Given the description of an element on the screen output the (x, y) to click on. 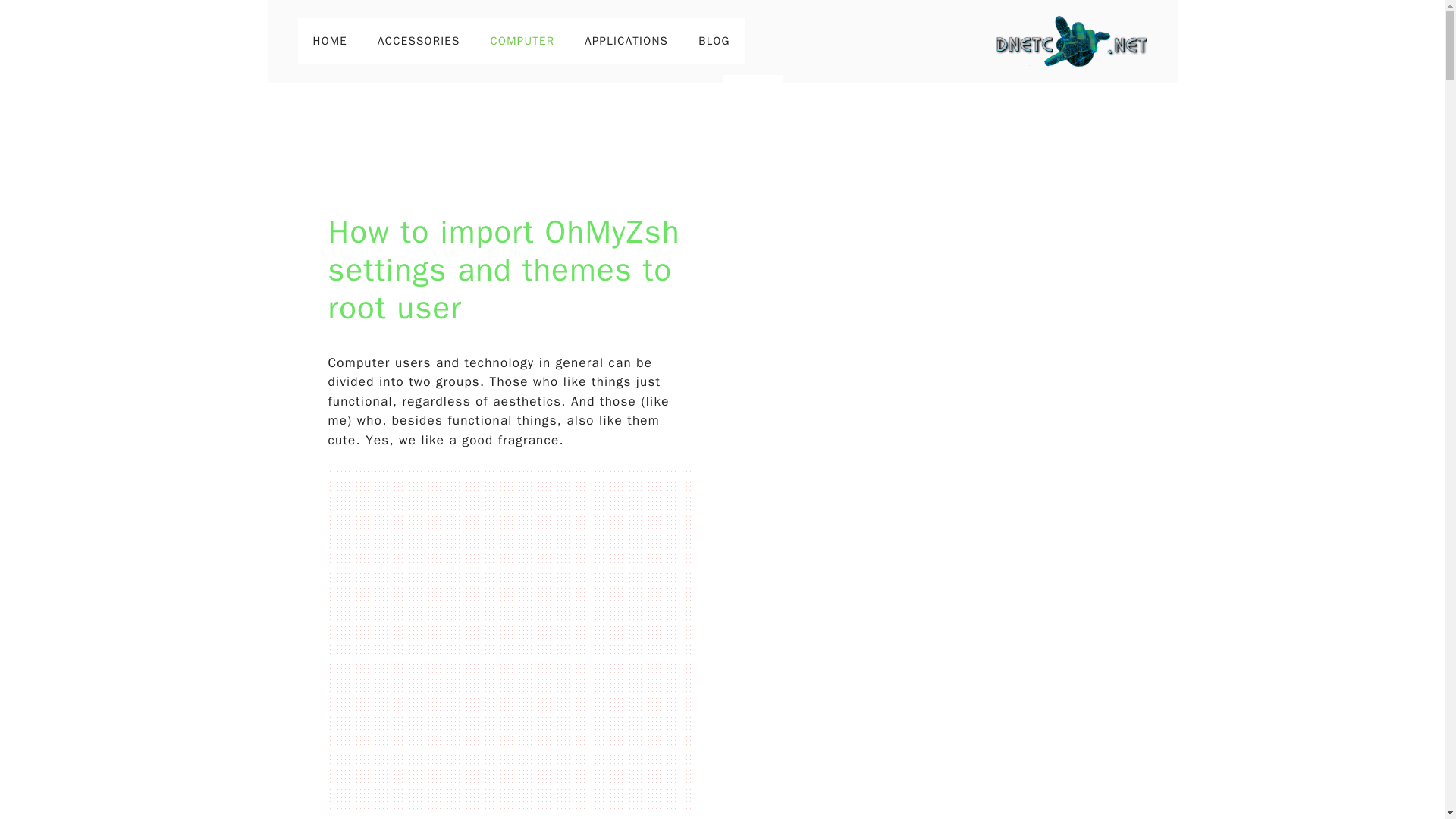
HOME (329, 40)
APPLICATIONS (625, 40)
BLOG (713, 40)
COMPUTER (523, 40)
ACCESSORIES (419, 40)
